Given the description of an element on the screen output the (x, y) to click on. 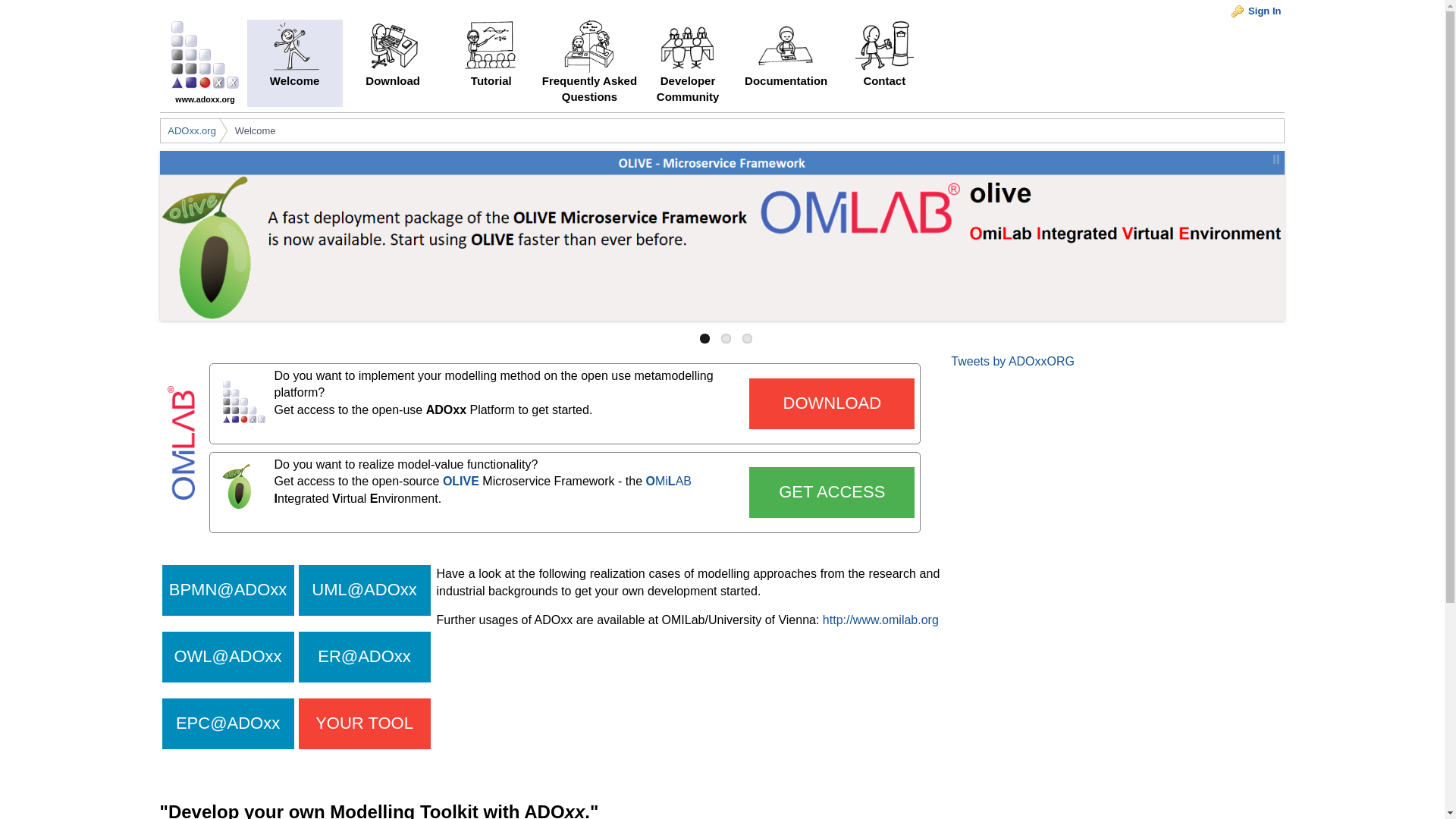
3 (747, 338)
Documentation (786, 63)
ADOxx.org (191, 131)
Frequently Asked Questions (589, 63)
GET ACCESS (831, 491)
www.adoxx.org (204, 93)
Sign In (1256, 11)
Welcome (255, 131)
Go to ADOxx.org (204, 93)
Tutorial (491, 63)
Welcome (294, 63)
2 (725, 338)
Developer Community (687, 63)
Contact (883, 63)
Download (393, 63)
